Given the description of an element on the screen output the (x, y) to click on. 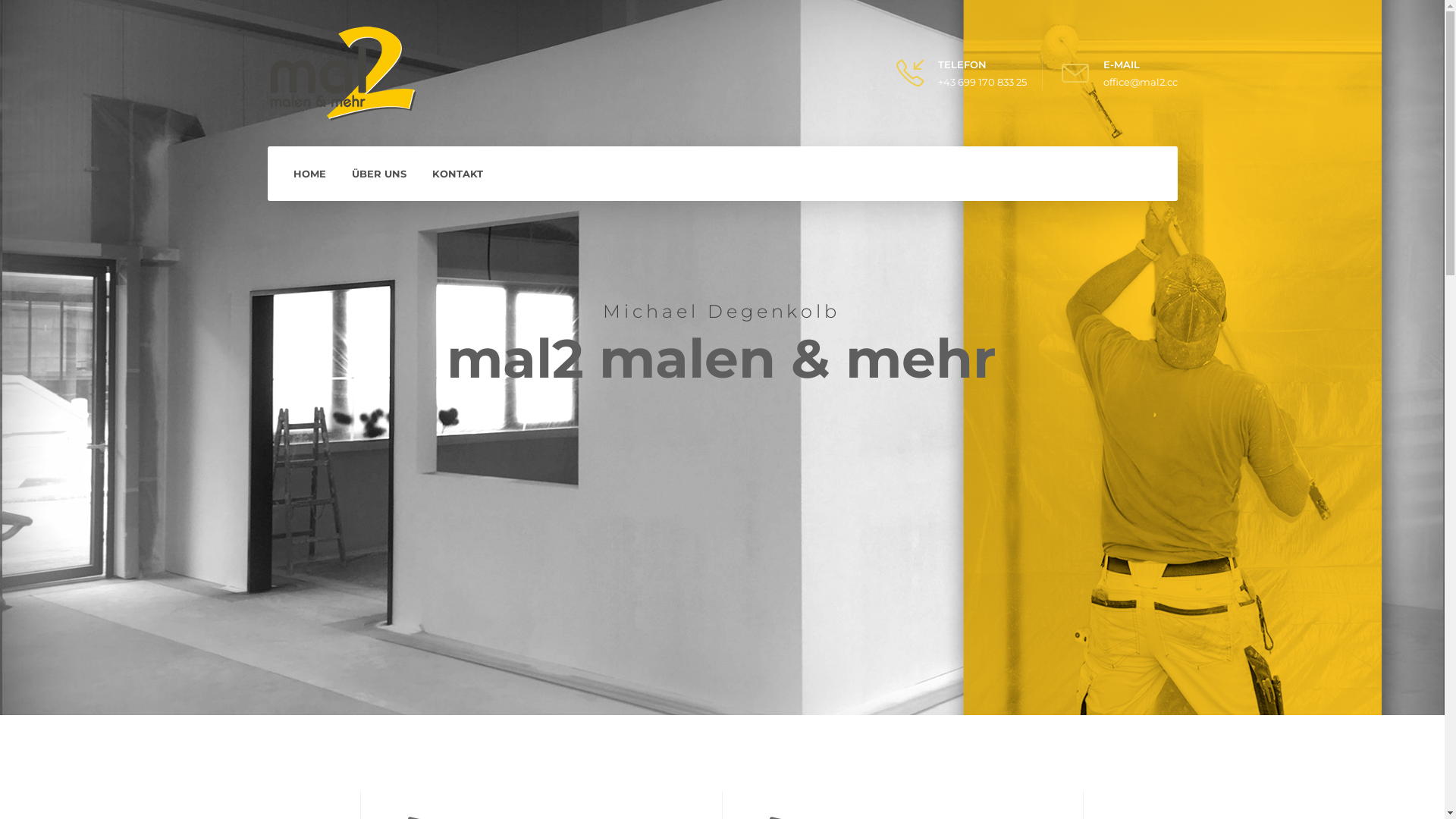
HOME Element type: text (308, 173)
KONTAKT Element type: text (457, 173)
